Given the description of an element on the screen output the (x, y) to click on. 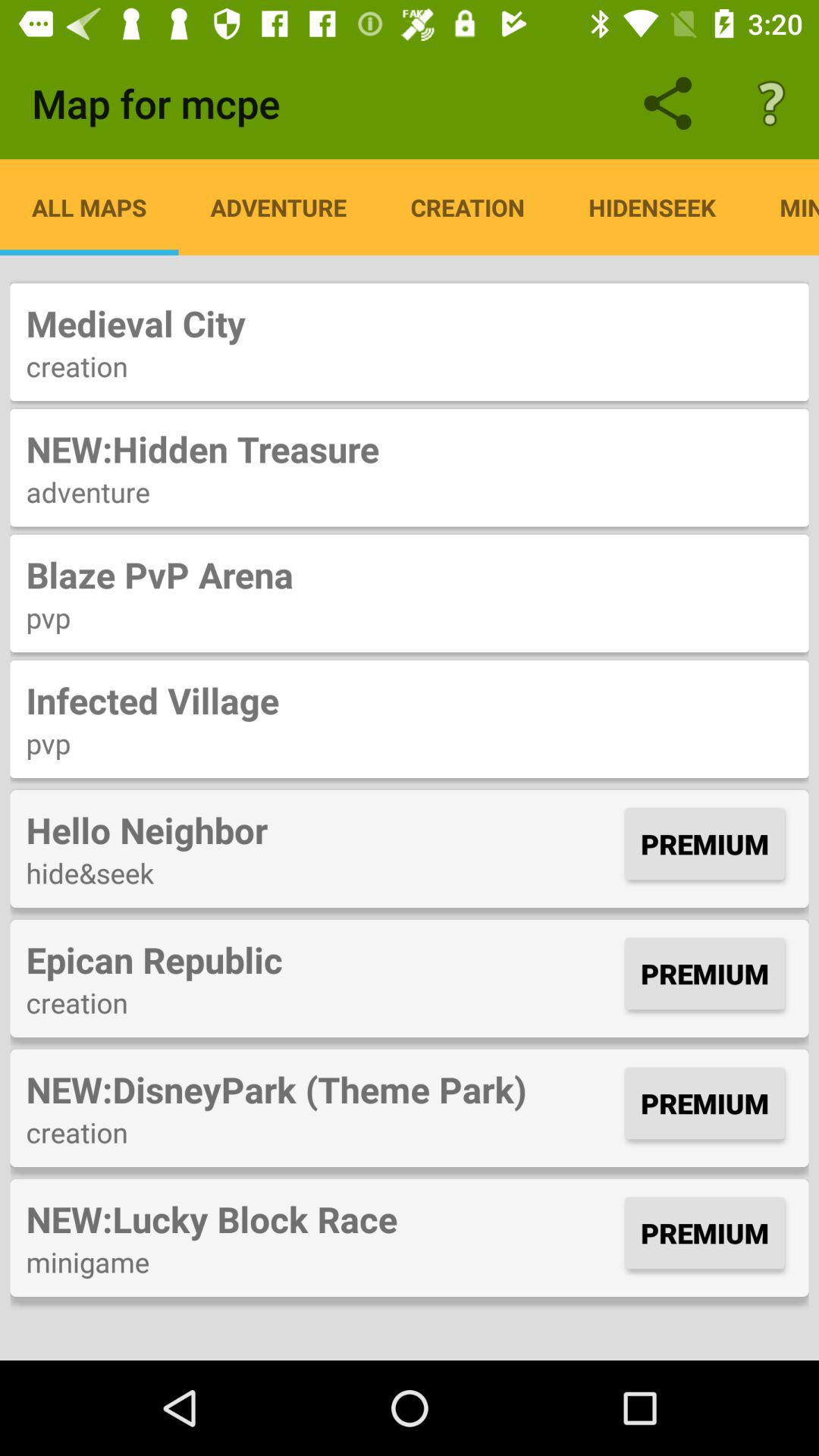
tap icon above the hidenseek item (771, 103)
